Given the description of an element on the screen output the (x, y) to click on. 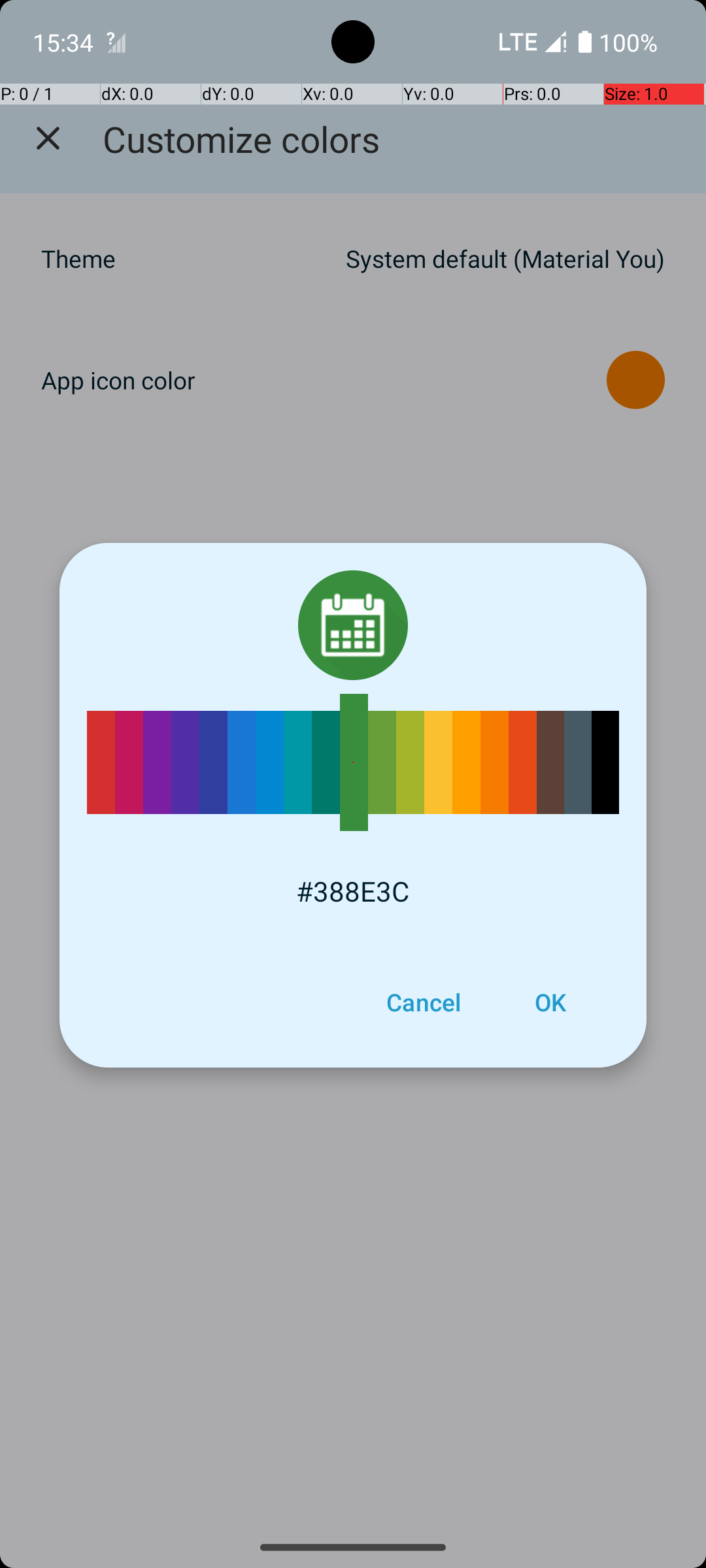
#388E3C Element type: android.widget.TextView (352, 890)
